Given the description of an element on the screen output the (x, y) to click on. 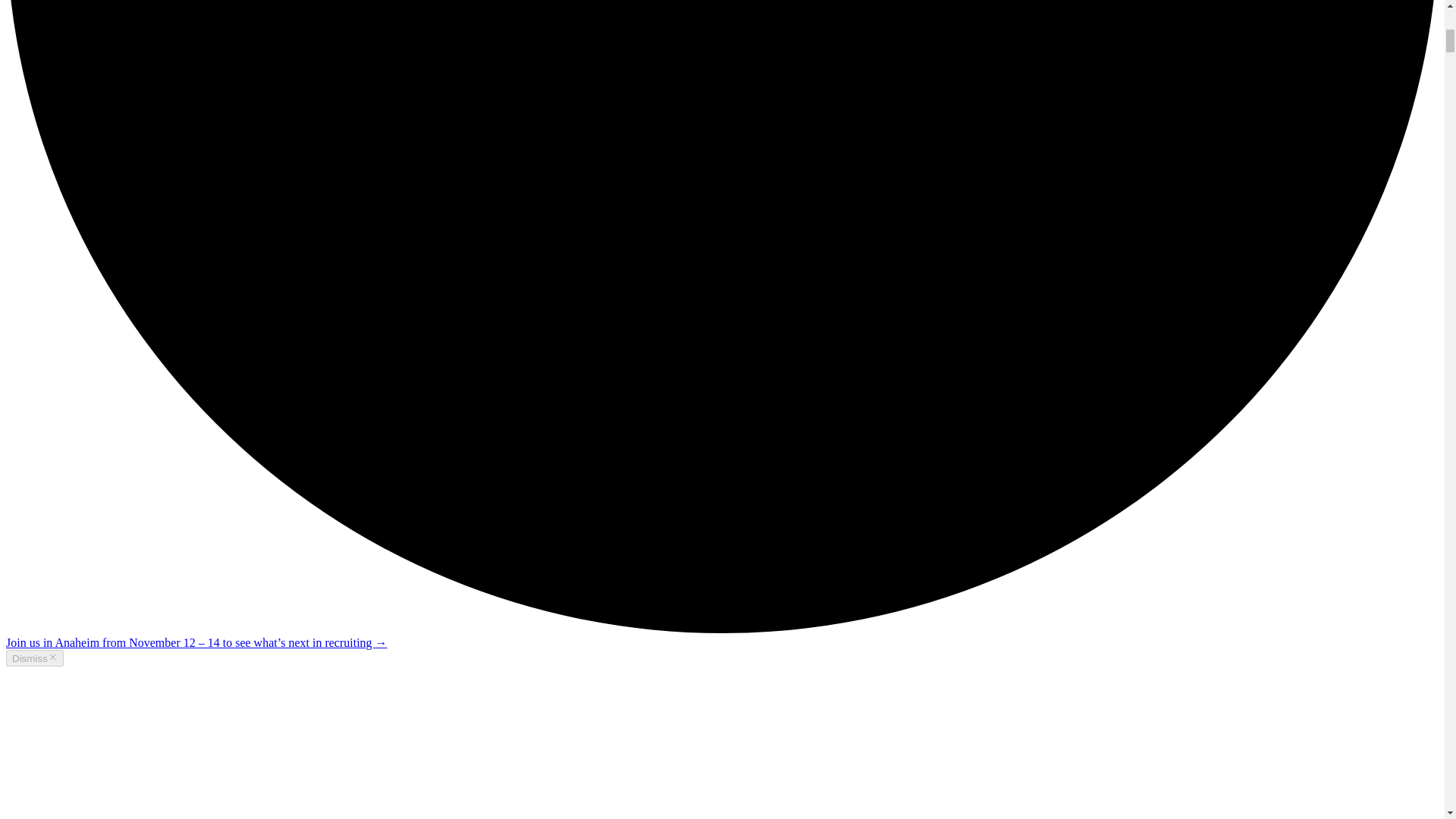
Dismiss (34, 658)
